Given the description of an element on the screen output the (x, y) to click on. 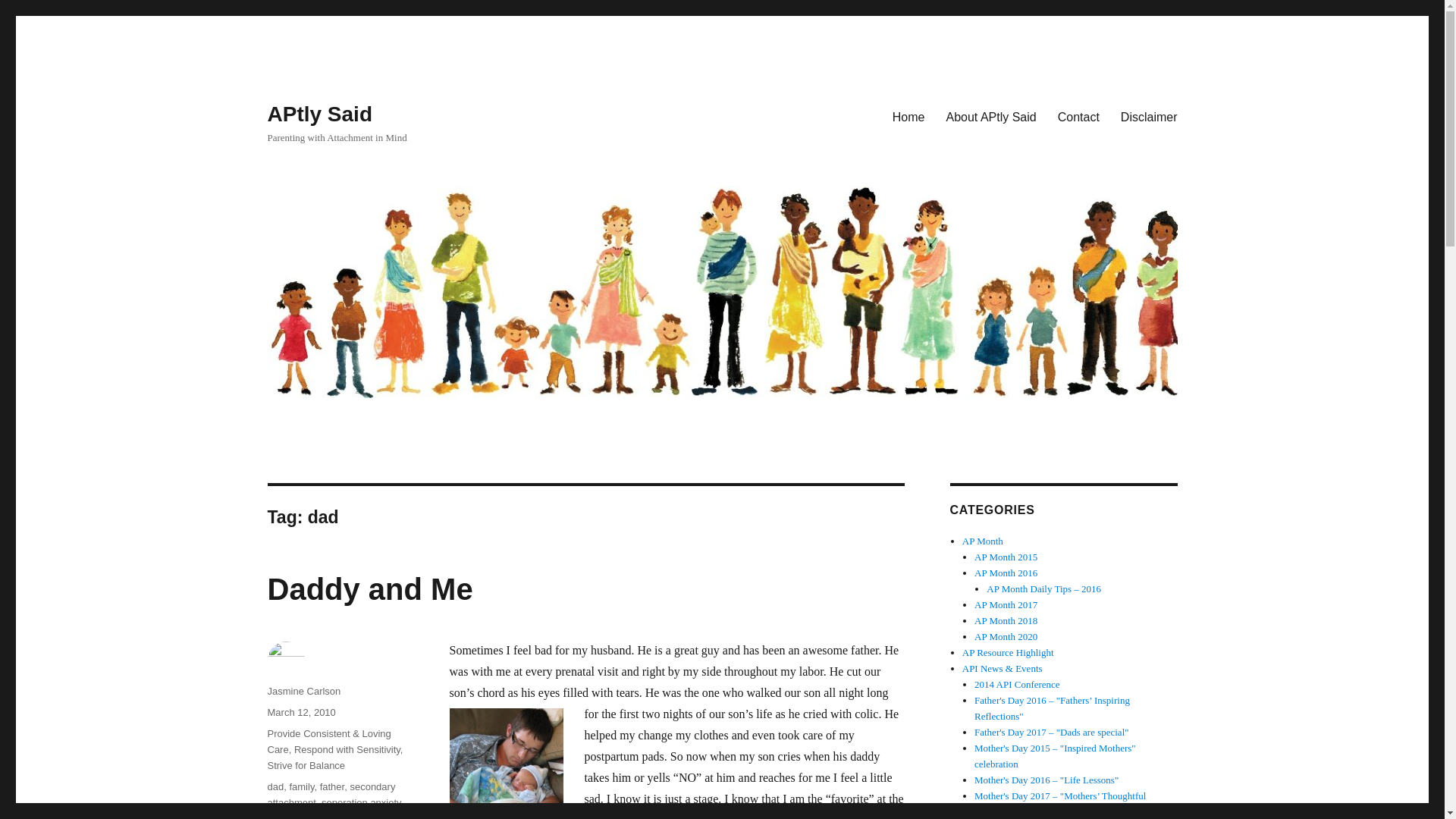
seperation anxiety (361, 802)
About APtly Said (991, 116)
March 12, 2010 (300, 712)
Respond with Sensitivity (347, 749)
APtly Said (318, 114)
family (301, 786)
Contact (1077, 116)
dad (274, 786)
Home (909, 116)
Jasmine Carlson (303, 690)
wanting mama not daddy (321, 816)
Daddy and Me (368, 589)
father (332, 786)
Strive for Balance (305, 765)
Disclaimer (1148, 116)
